Given the description of an element on the screen output the (x, y) to click on. 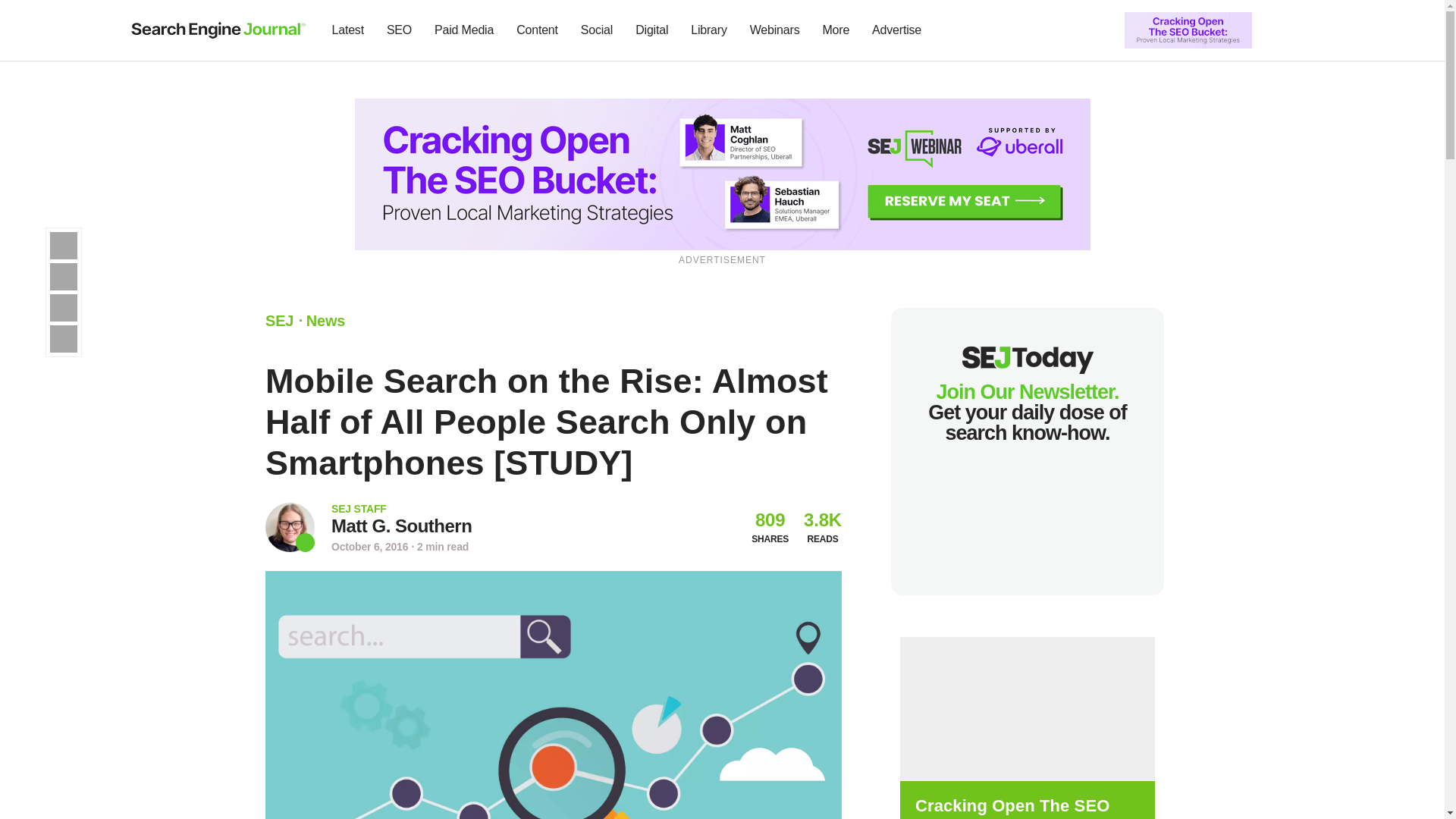
Subscribe to our Newsletter (1277, 30)
Go to Author Page (289, 527)
Paid Media (464, 30)
Register For Free (722, 172)
Register For Free (1187, 28)
Go to Author Page (401, 526)
Latest (347, 30)
